Given the description of an element on the screen output the (x, y) to click on. 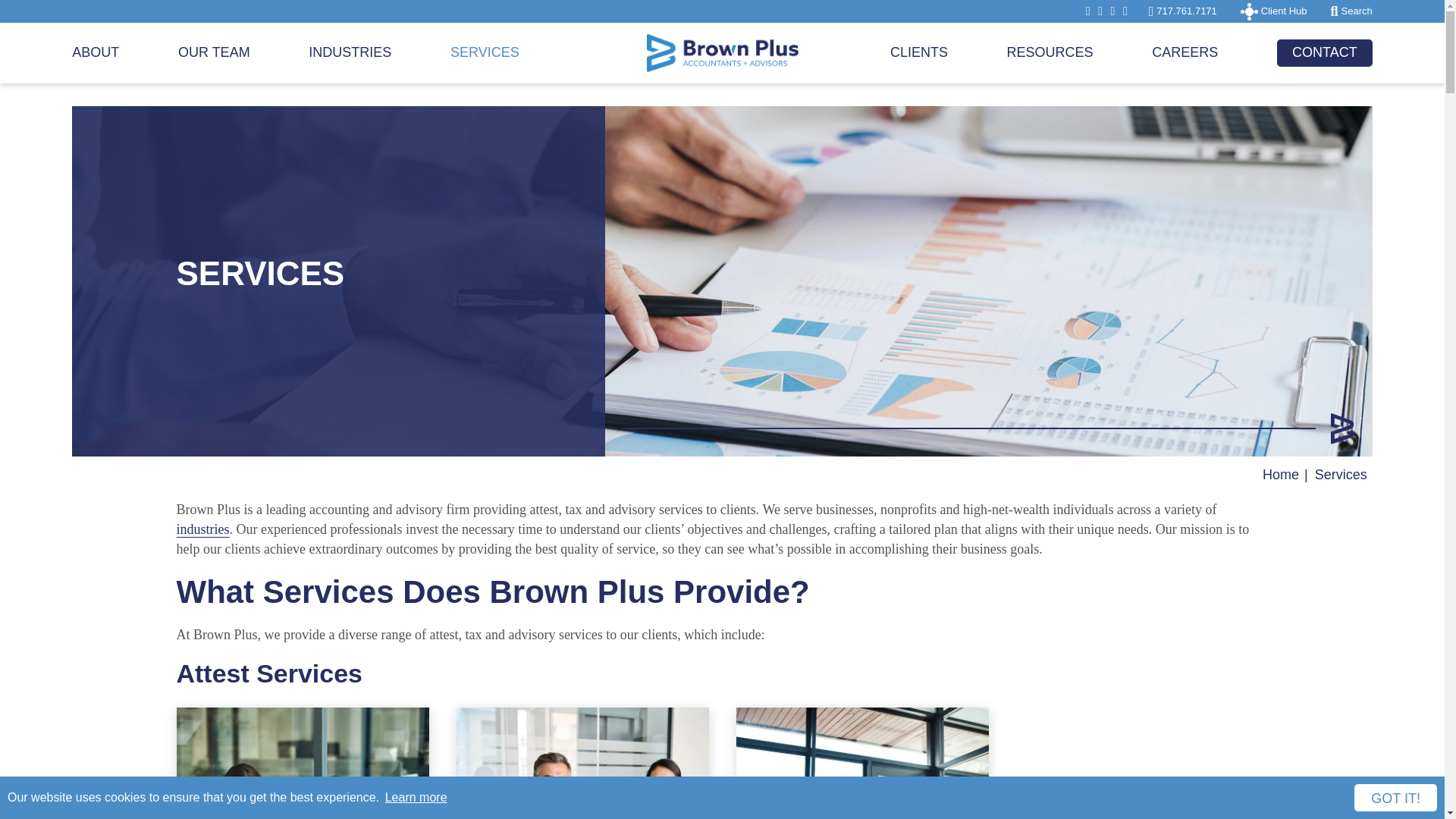
Home (1280, 474)
